Given the description of an element on the screen output the (x, y) to click on. 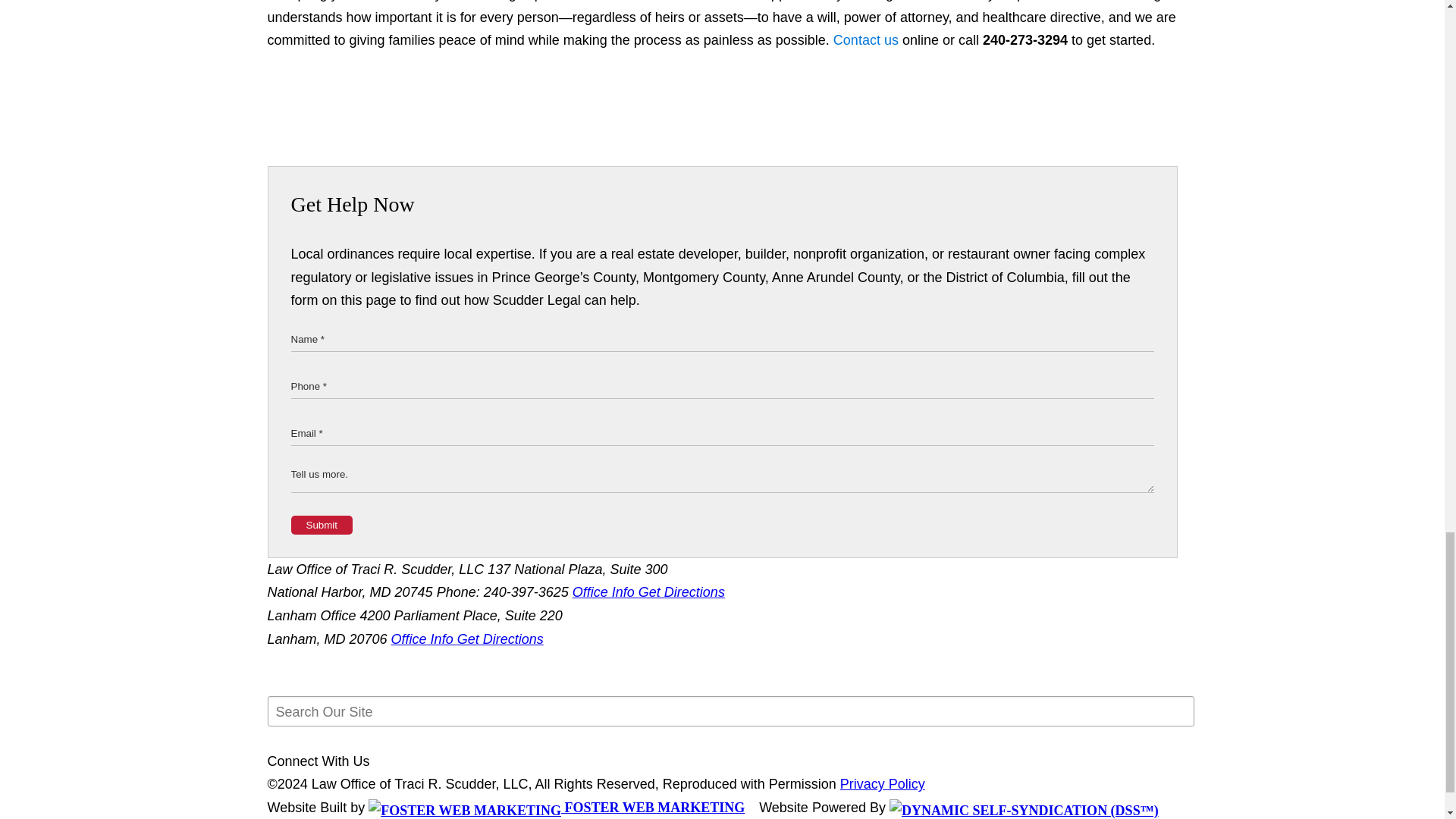
Submit (321, 524)
Get Directions (682, 591)
Office Info (424, 639)
Contact us (865, 39)
Privacy Policy (882, 783)
Office Info (605, 591)
FOSTER WEB MARKETING (556, 807)
Get Directions (500, 639)
